Given the description of an element on the screen output the (x, y) to click on. 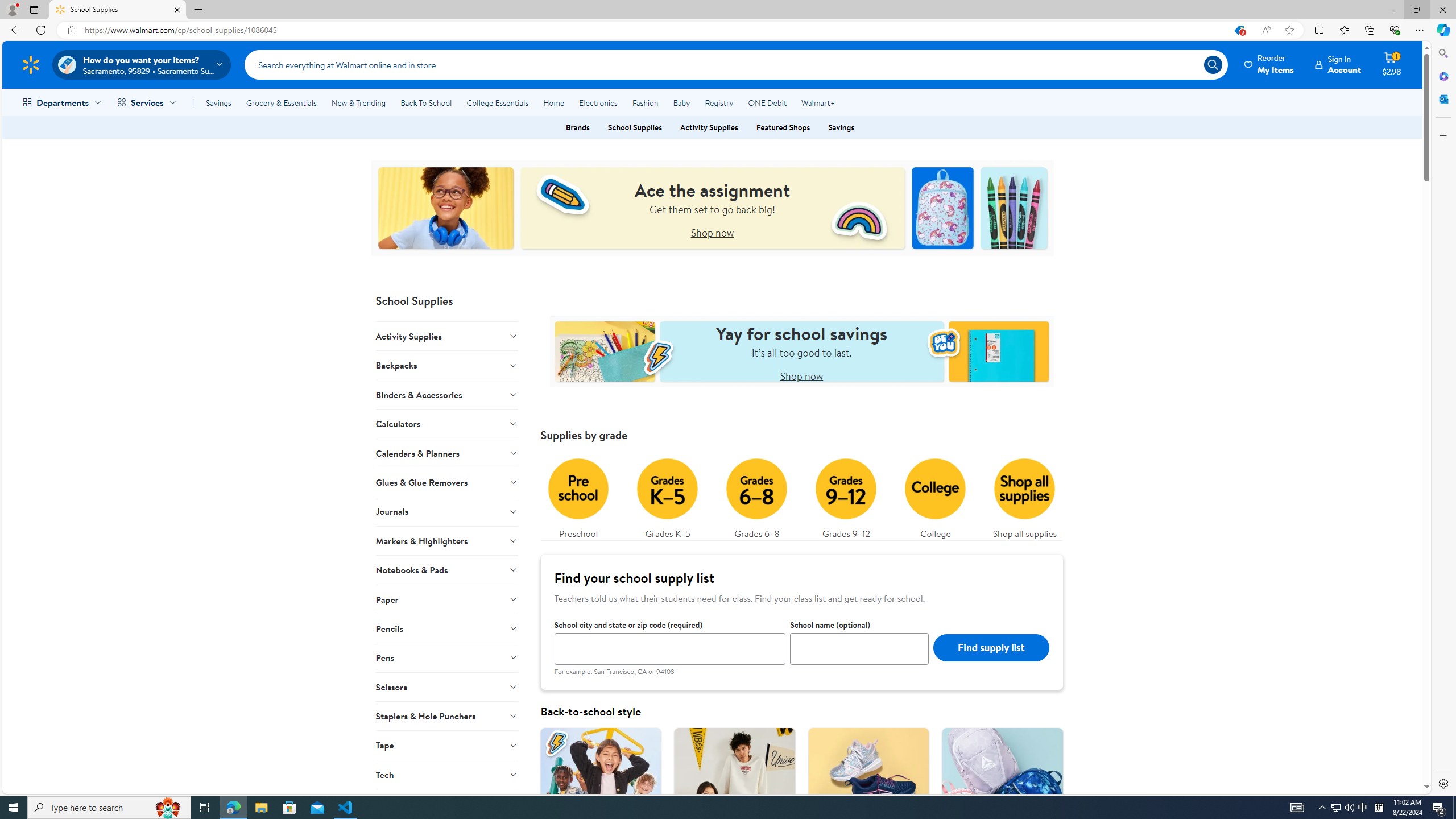
ReorderMy Items (1269, 64)
Grocery & Essentials (280, 102)
Glues & Glue Removers (446, 481)
Shop all supplies (1024, 495)
Savings (217, 102)
Back To School (425, 102)
Preschool (577, 495)
